Given the description of an element on the screen output the (x, y) to click on. 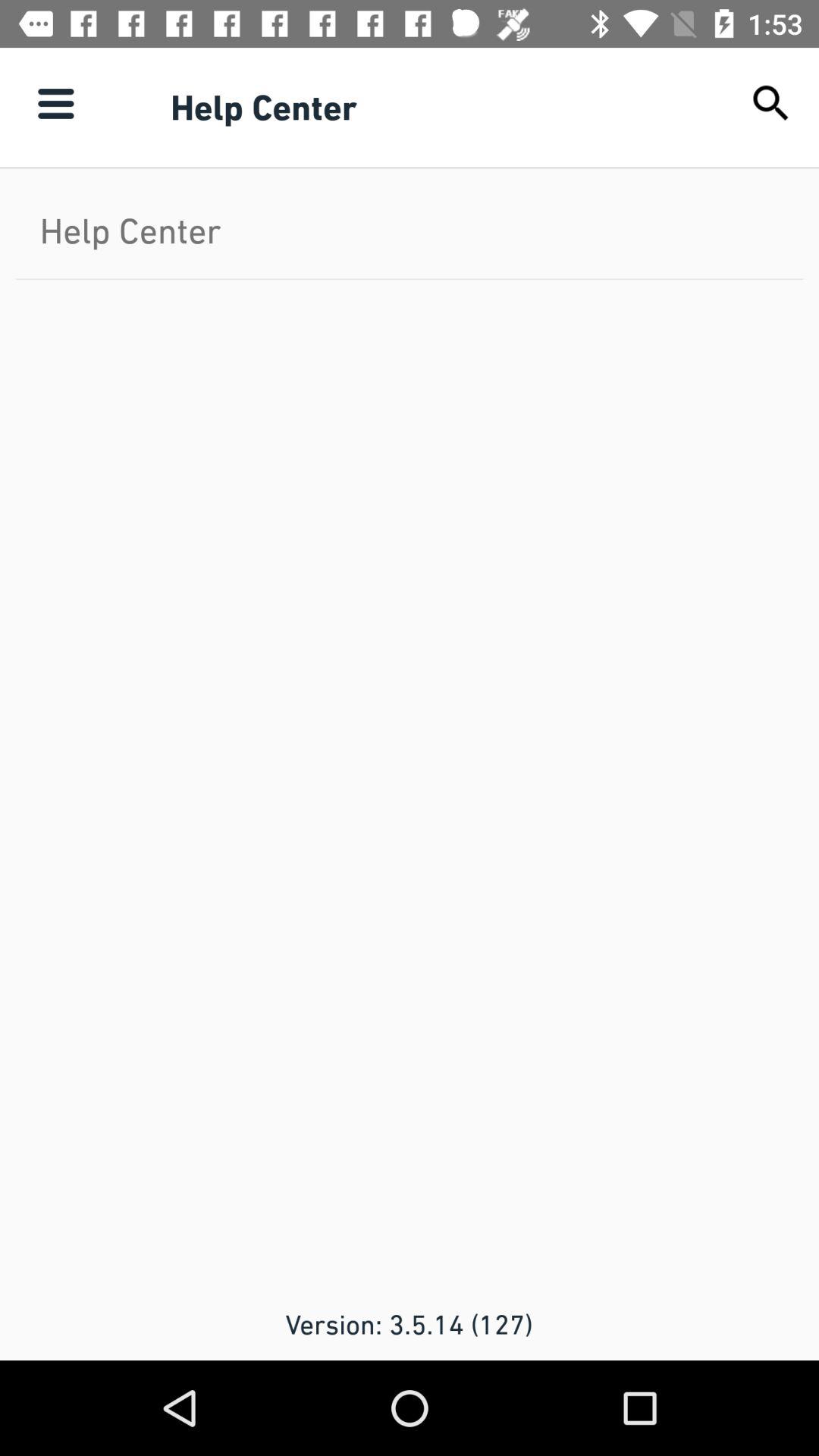
open item above the help center (771, 103)
